Given the description of an element on the screen output the (x, y) to click on. 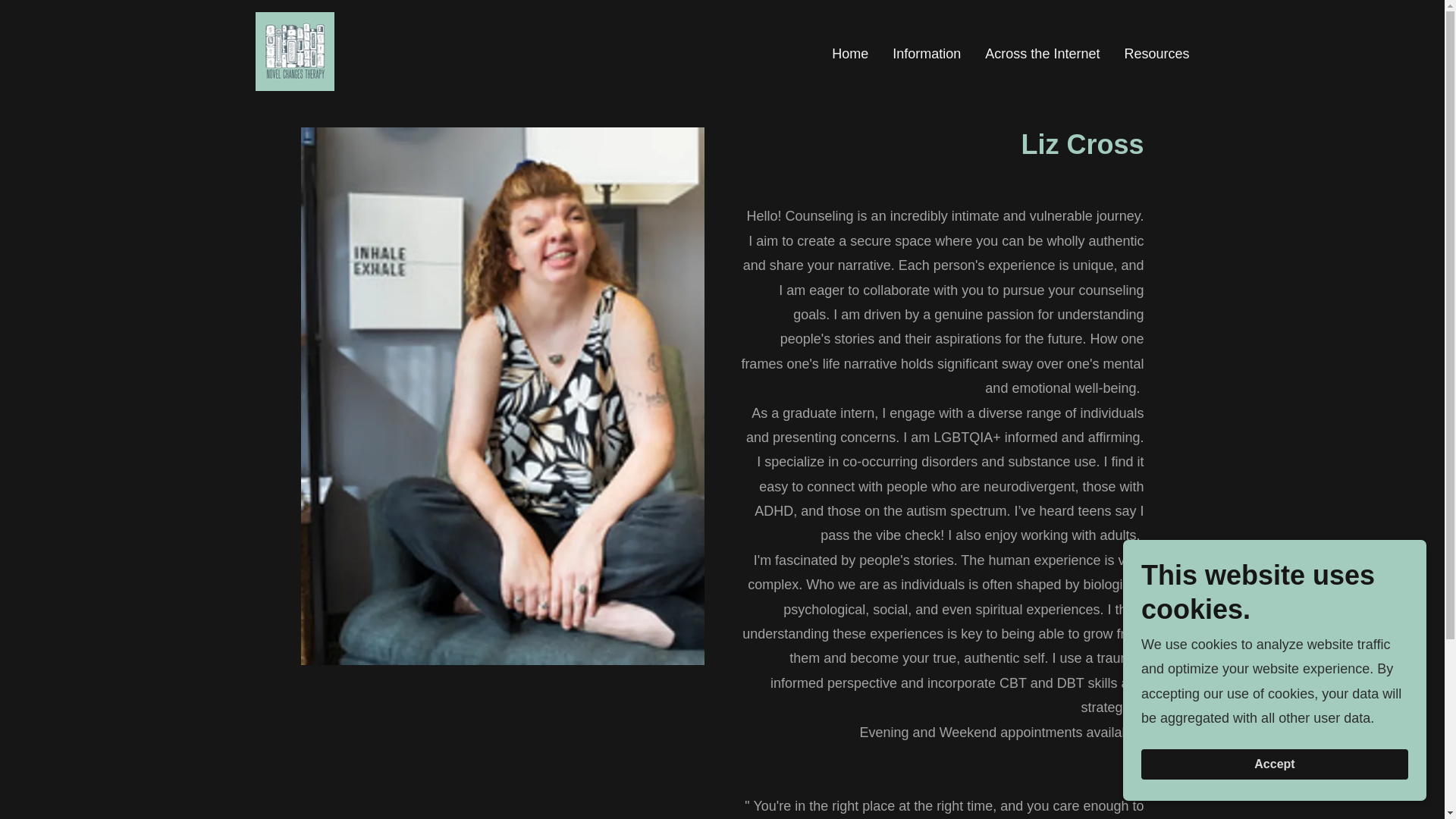
Home (849, 52)
Resources (1156, 52)
Accept (1274, 764)
Across the Internet (1041, 52)
Information (926, 52)
